Given the description of an element on the screen output the (x, y) to click on. 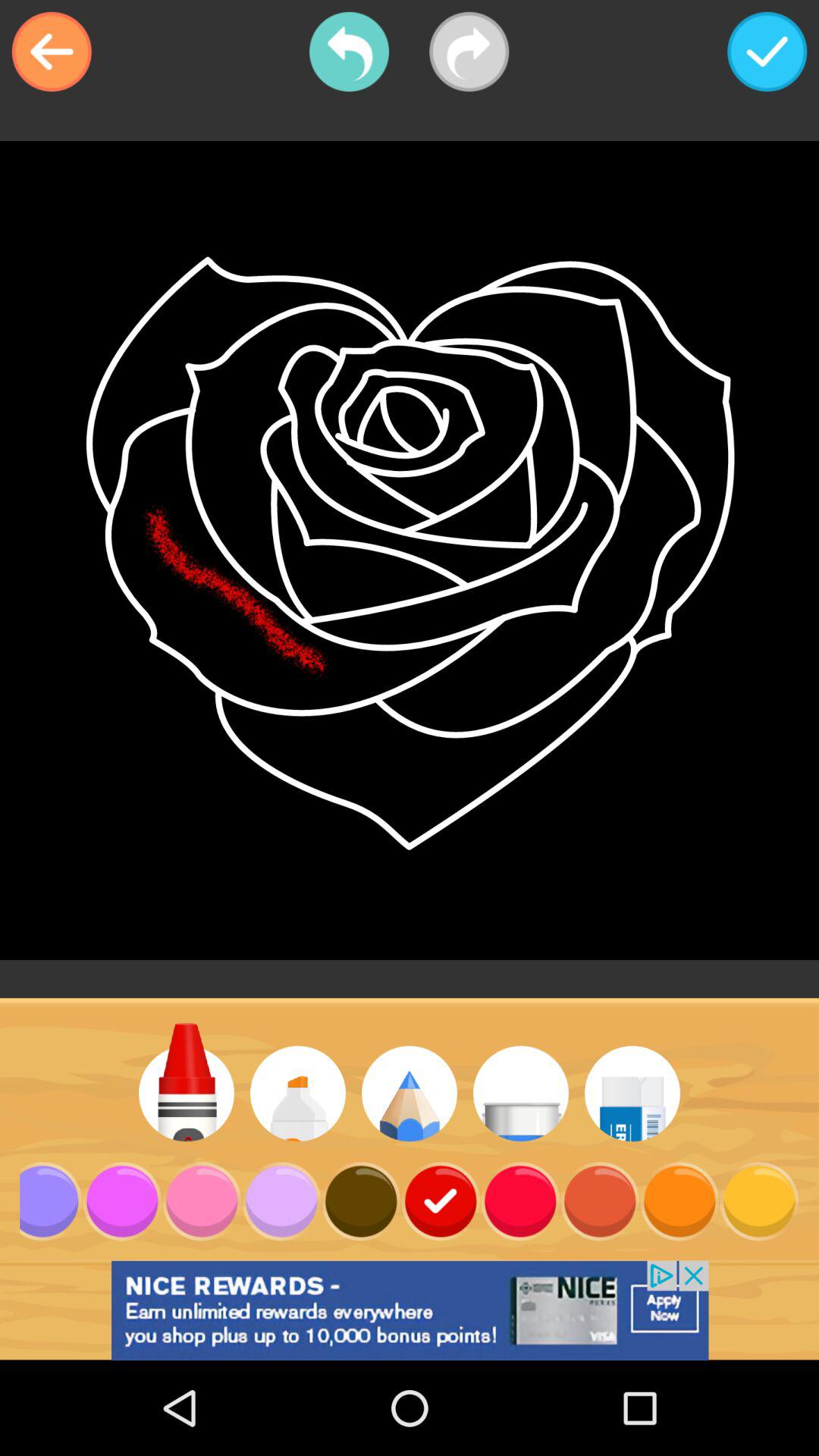
turn on icon at the top right corner (767, 51)
